Given the description of an element on the screen output the (x, y) to click on. 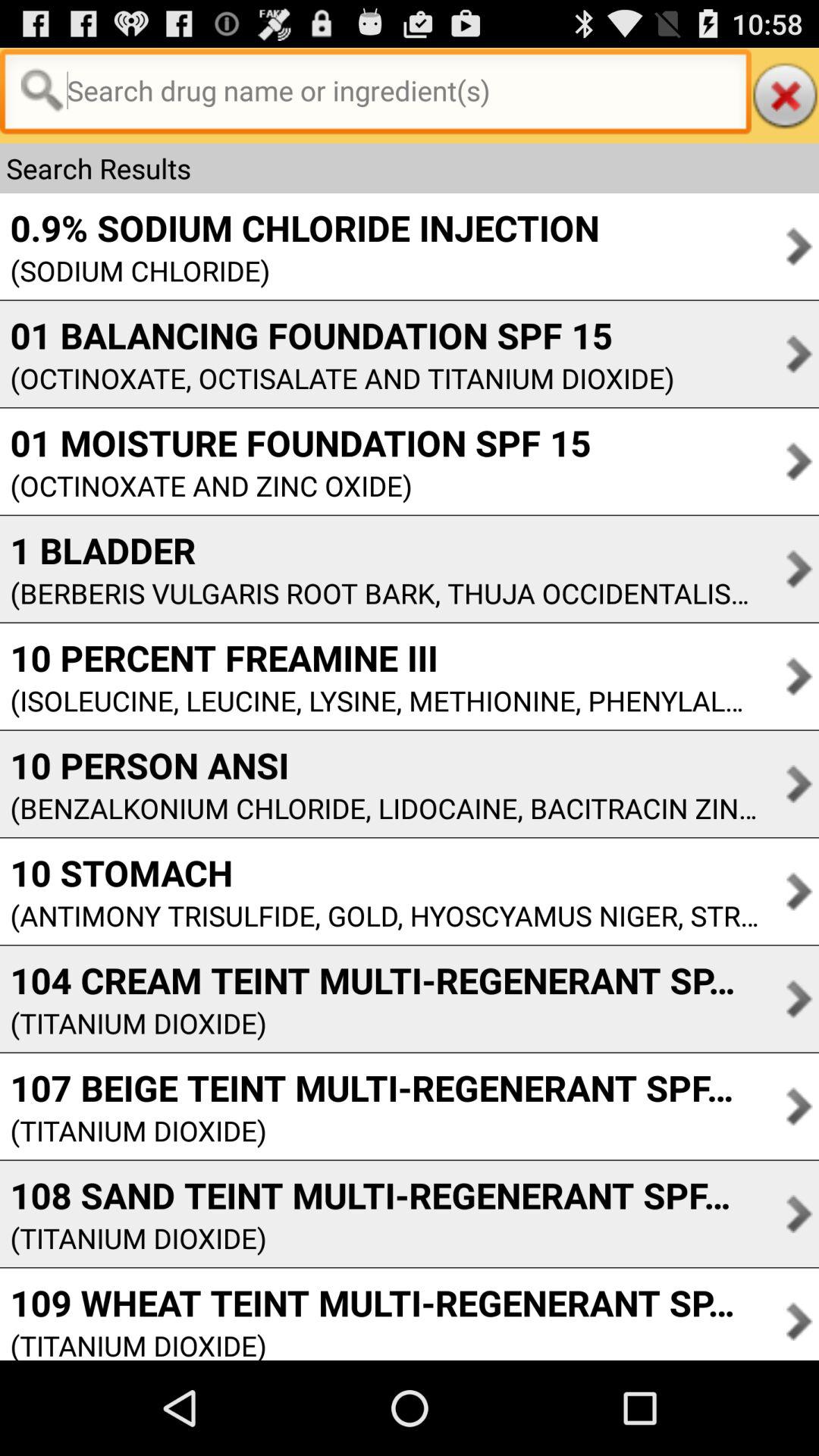
flip to the 0 9 sodium (299, 227)
